Given the description of an element on the screen output the (x, y) to click on. 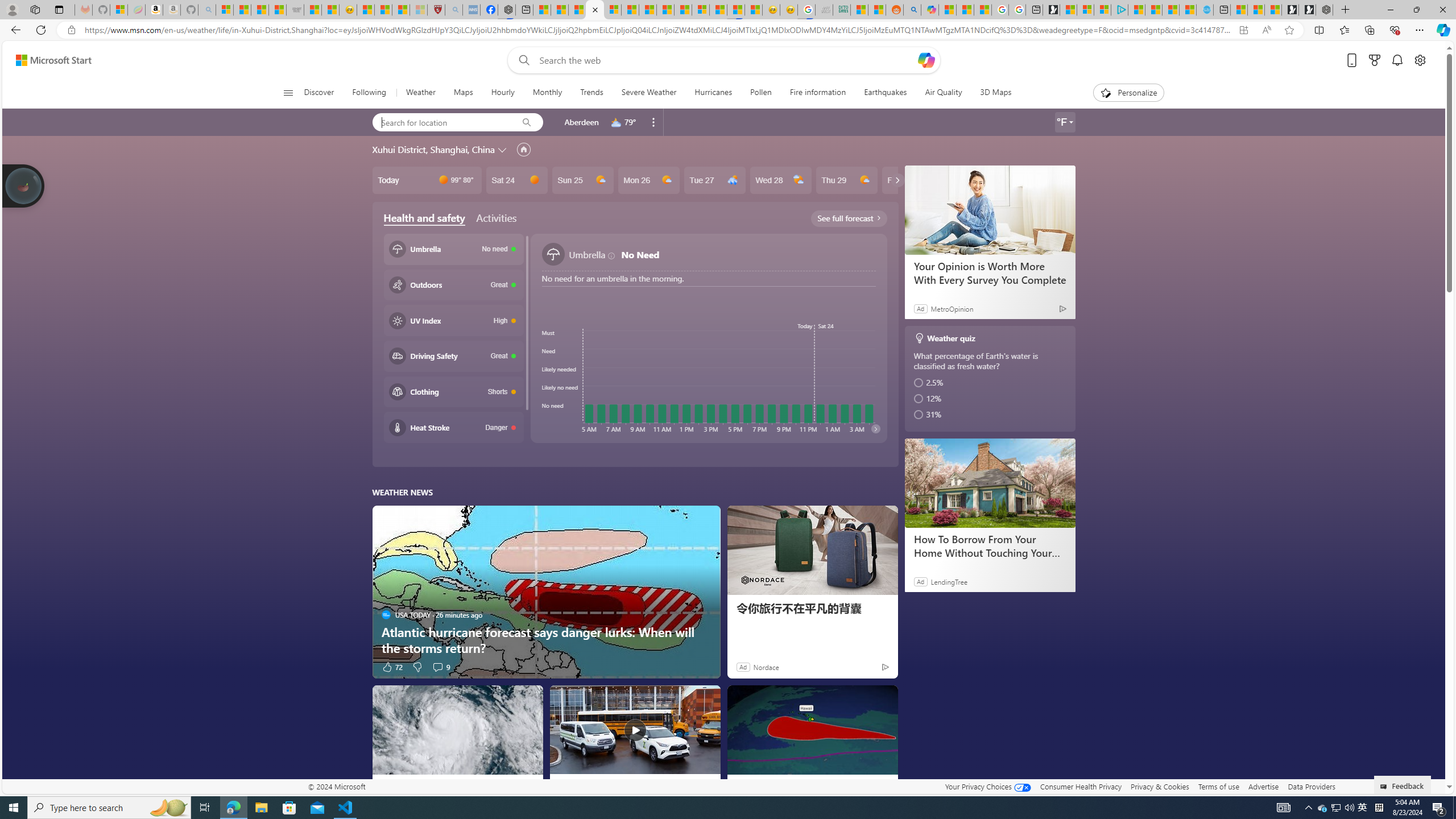
Microsoft Copilot in Bing (929, 9)
Weather settings (1064, 122)
Mon 26 (648, 180)
See full forecast (848, 217)
Activities (496, 217)
Remove location (653, 122)
Fire information (817, 92)
Open Copilot (925, 59)
Monthly (547, 92)
3D Maps (995, 92)
Favorites (1344, 29)
Severe Weather (648, 92)
Notifications (1397, 60)
Home | Sky Blue Bikes - Sky Blue Bikes (1204, 9)
